Given the description of an element on the screen output the (x, y) to click on. 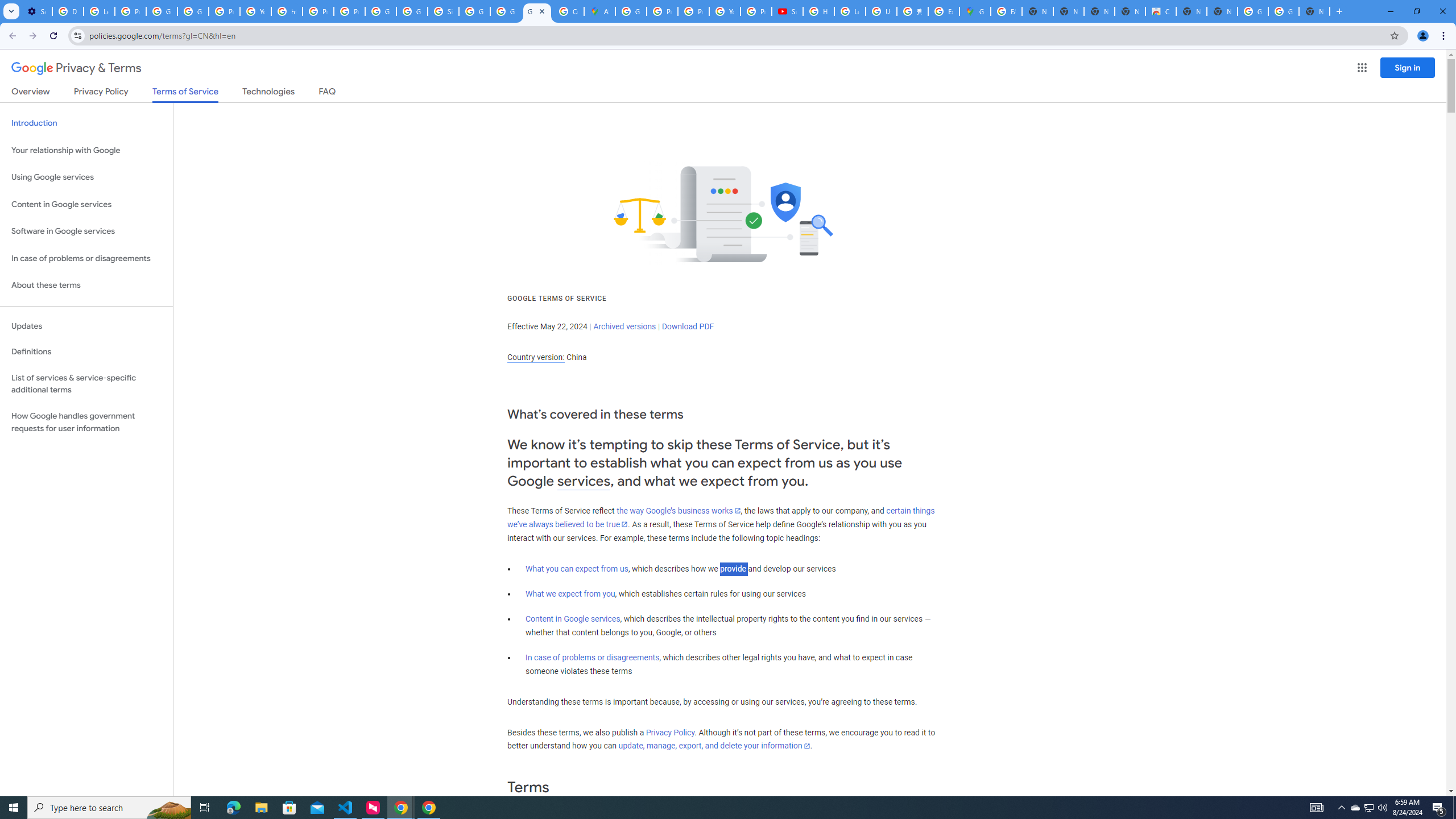
Google Images (1252, 11)
Privacy Help Center - Policies Help (693, 11)
https://scholar.google.com/ (286, 11)
FAQ (327, 93)
Introduction (86, 122)
About these terms (86, 284)
Country version: (535, 357)
How Google handles government requests for user information (86, 422)
YouTube (724, 11)
Definitions (86, 352)
